Given the description of an element on the screen output the (x, y) to click on. 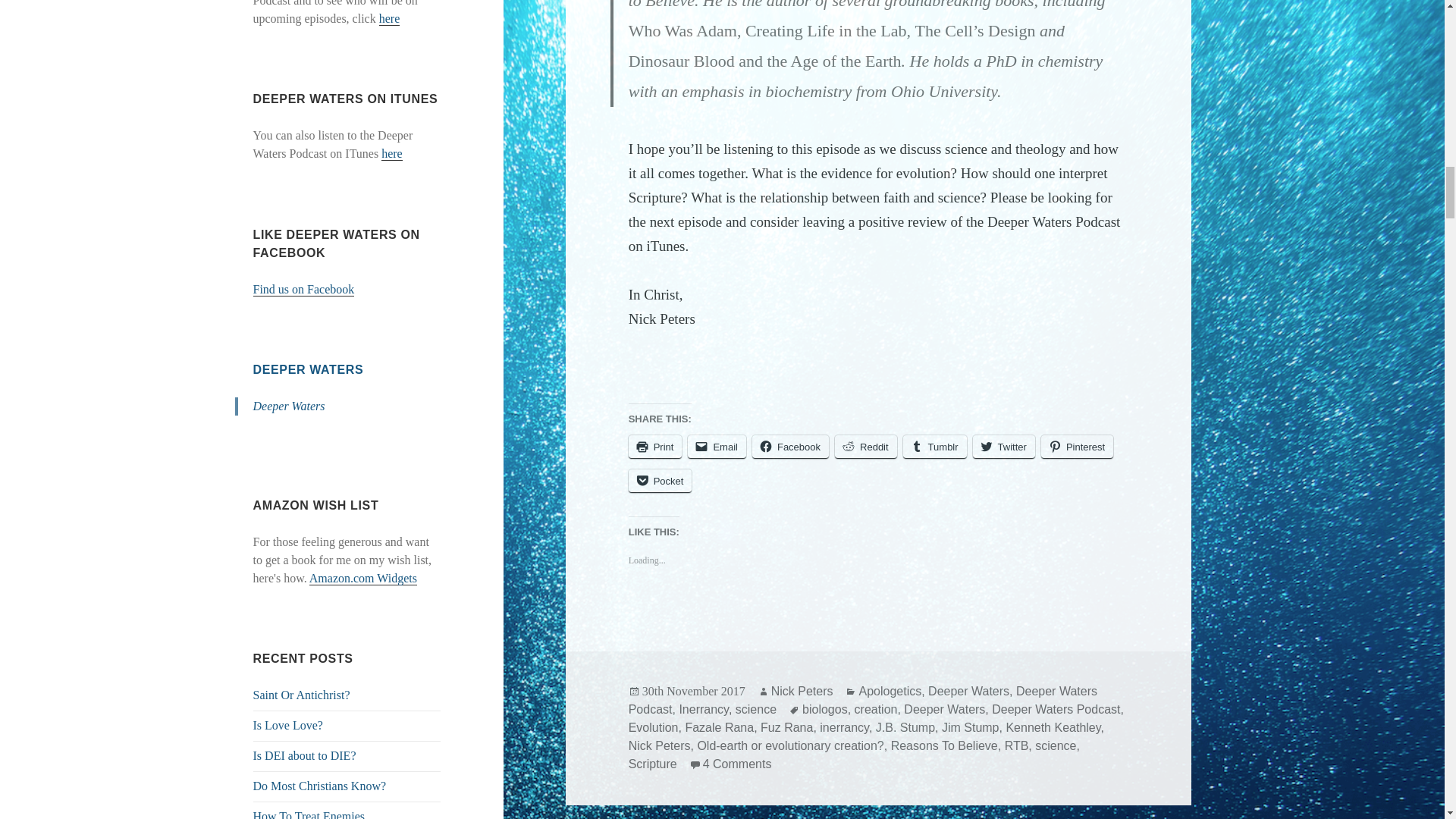
Click to print (655, 446)
Do Most Christians Know? (320, 785)
Click to share on Facebook (790, 446)
How To Treat Enemies (309, 814)
Click to share on Tumblr (934, 446)
DEEPER WATERS (308, 369)
Deeper Waters (288, 405)
Is DEI about to DIE? (304, 755)
Click to share on Pocket (660, 481)
Click to share on Pinterest (1077, 446)
Click to share on Twitter (1003, 446)
Amazon.com Widgets (362, 578)
here (389, 18)
here (392, 153)
Is Love Love? (288, 725)
